Given the description of an element on the screen output the (x, y) to click on. 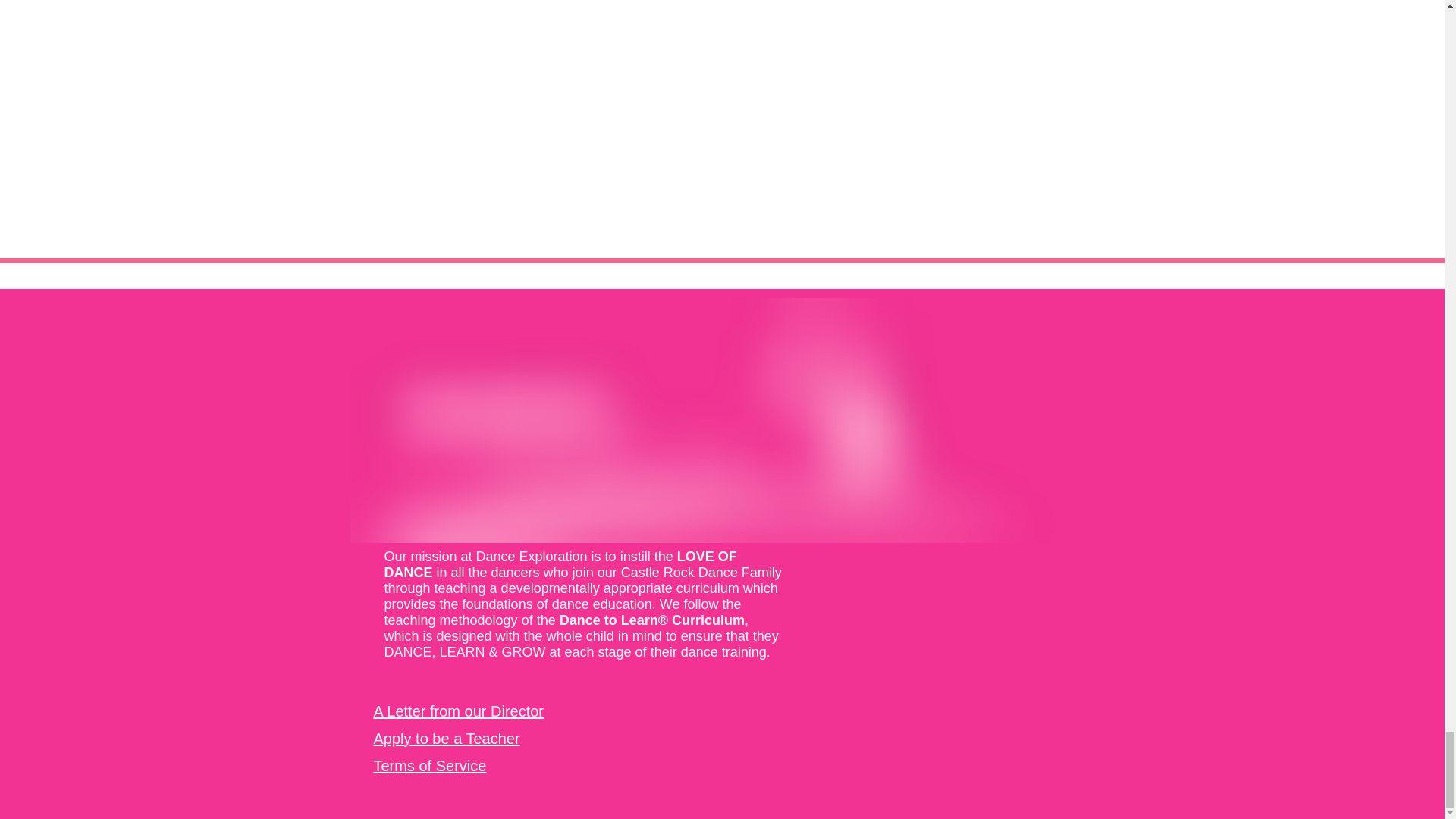
Apply to be a Teacher (445, 738)
A Letter from our Director (457, 710)
Terms of Service (429, 765)
